Given the description of an element on the screen output the (x, y) to click on. 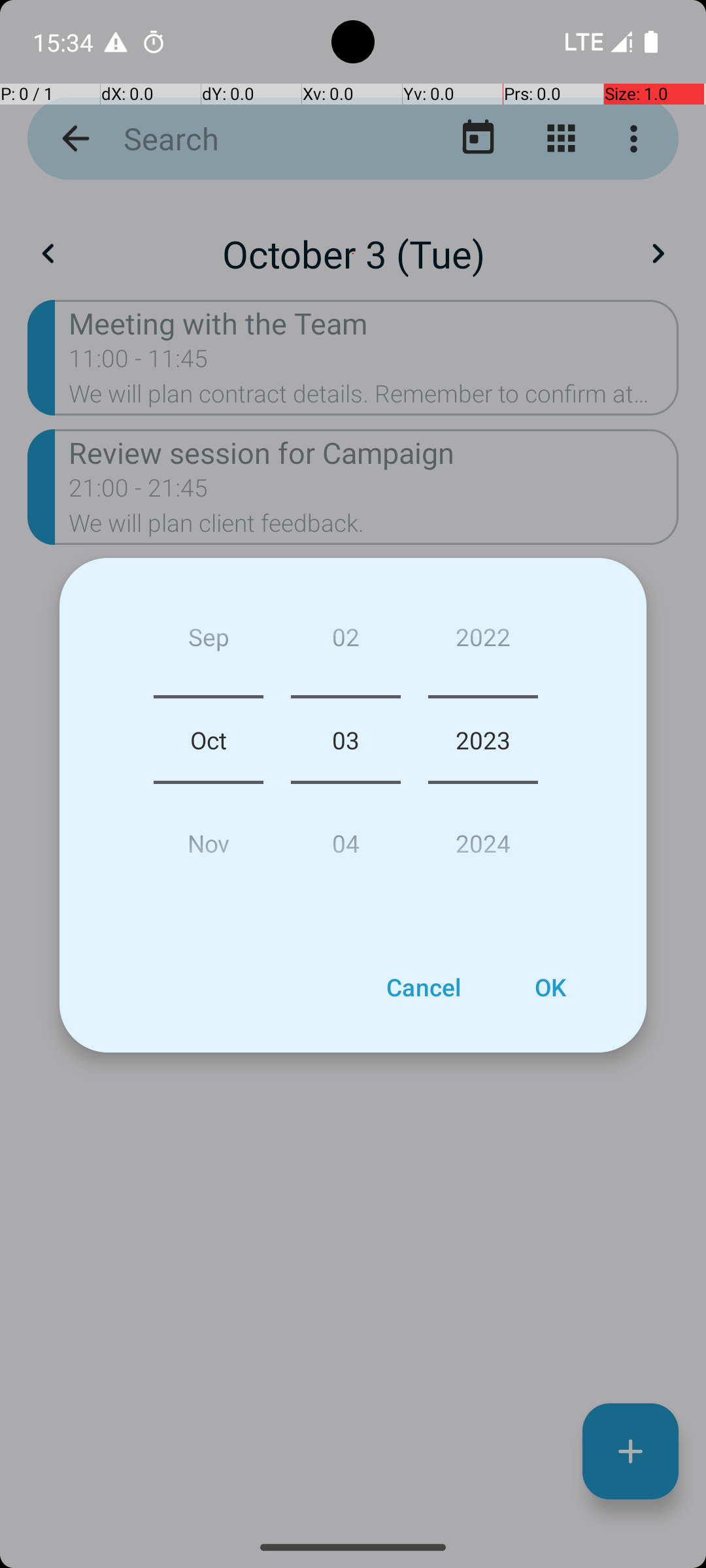
Sep Element type: android.widget.Button (208, 641)
Oct Element type: android.widget.EditText (208, 739)
Nov Element type: android.widget.Button (208, 837)
02 Element type: android.widget.Button (345, 641)
03 Element type: android.widget.EditText (345, 739)
04 Element type: android.widget.Button (345, 837)
2022 Element type: android.widget.Button (482, 641)
2024 Element type: android.widget.Button (482, 837)
